Given the description of an element on the screen output the (x, y) to click on. 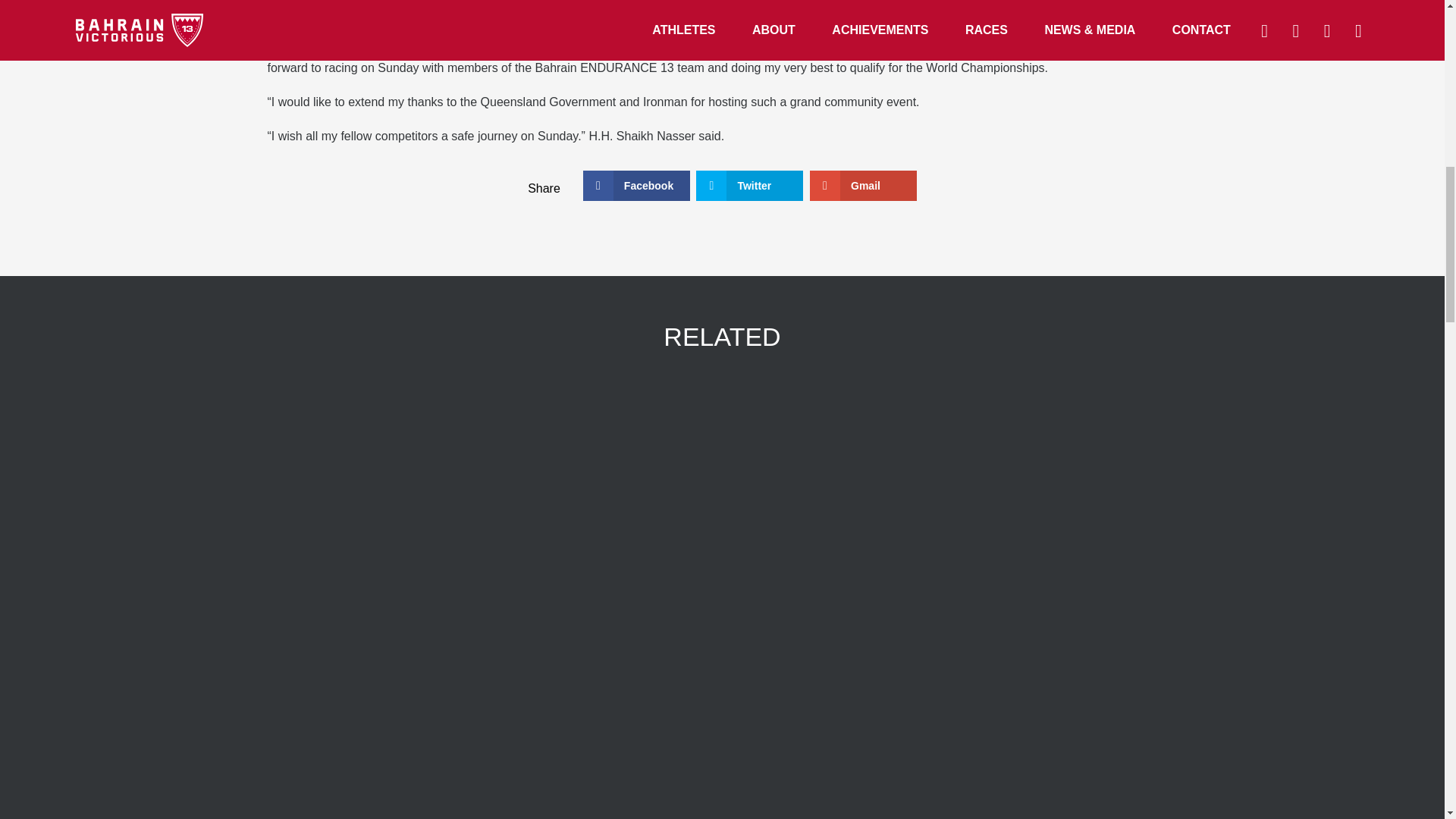
Twitter (749, 185)
Facebook (636, 185)
Gmail (863, 185)
